Given the description of an element on the screen output the (x, y) to click on. 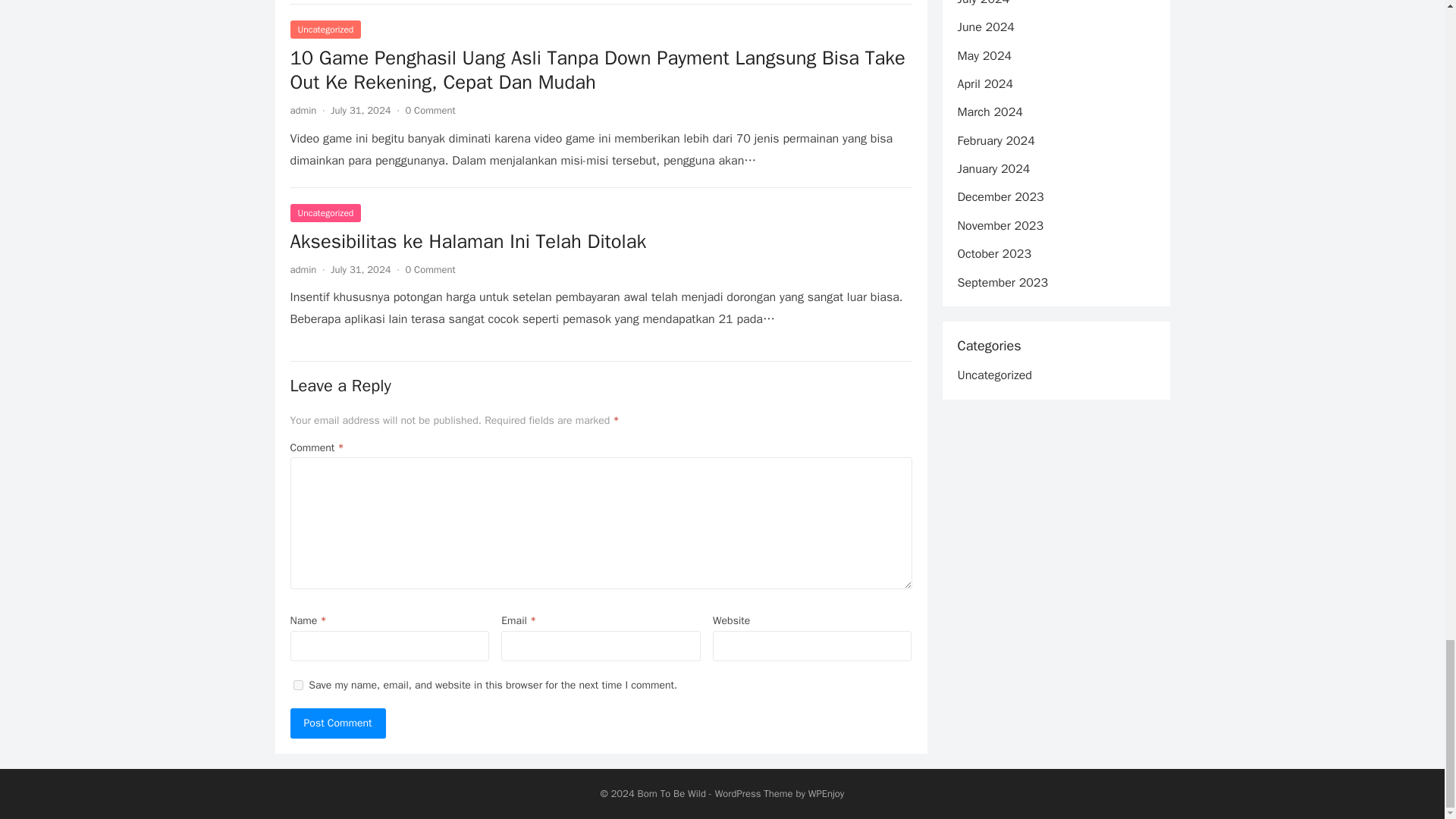
yes (297, 685)
Post Comment (337, 723)
Posts by admin (302, 110)
Posts by admin (302, 269)
